Given the description of an element on the screen output the (x, y) to click on. 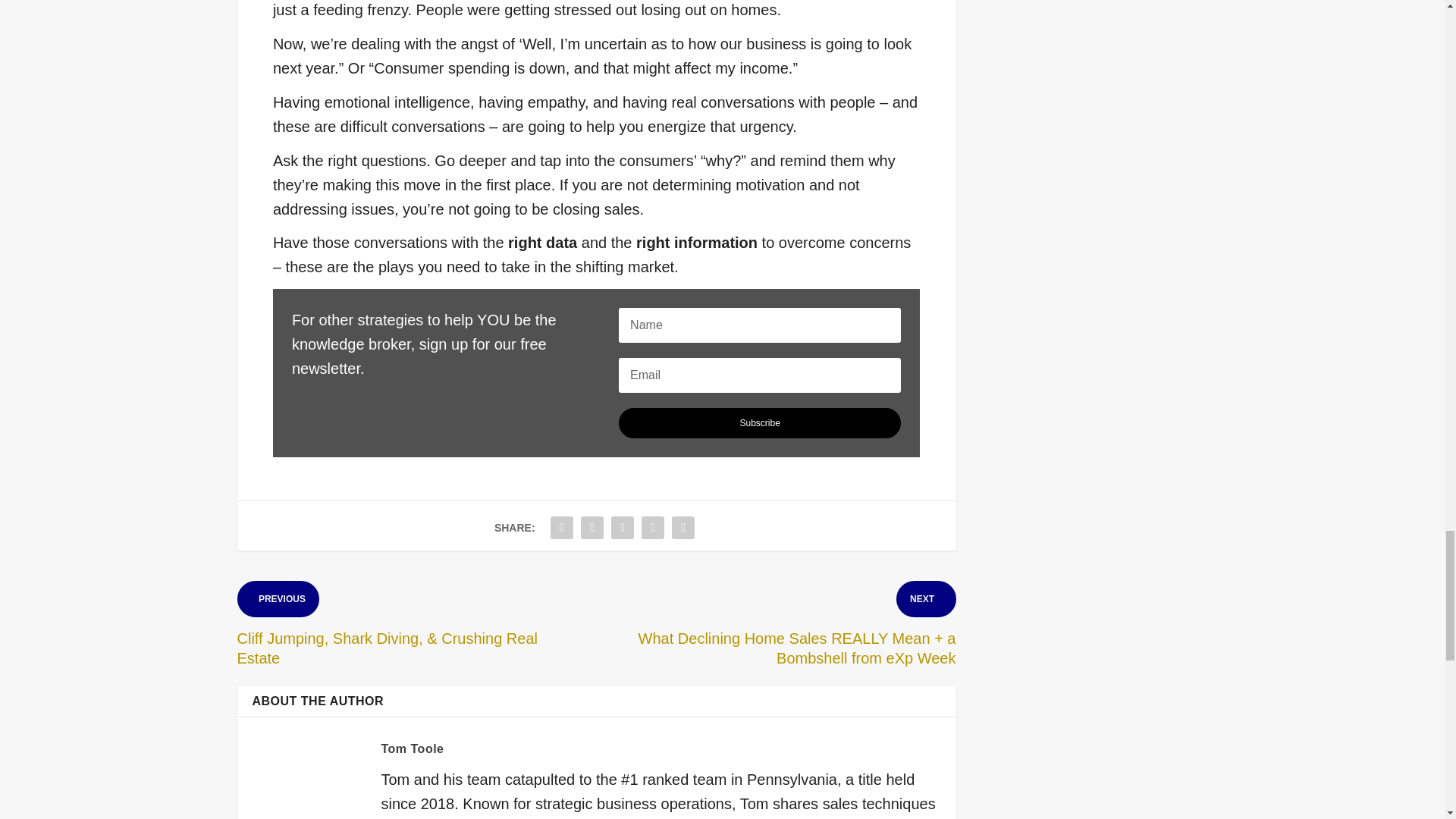
Share "The Shifting Market Playbook for Agents" via Facebook (561, 527)
Share "The Shifting Market Playbook for Agents" via Twitter (591, 527)
Share "The Shifting Market Playbook for Agents" via LinkedIn (622, 527)
View all posts by Tom Toole (412, 748)
Share "The Shifting Market Playbook for Agents" via Print (683, 527)
Share "The Shifting Market Playbook for Agents" via Email (652, 527)
